Given the description of an element on the screen output the (x, y) to click on. 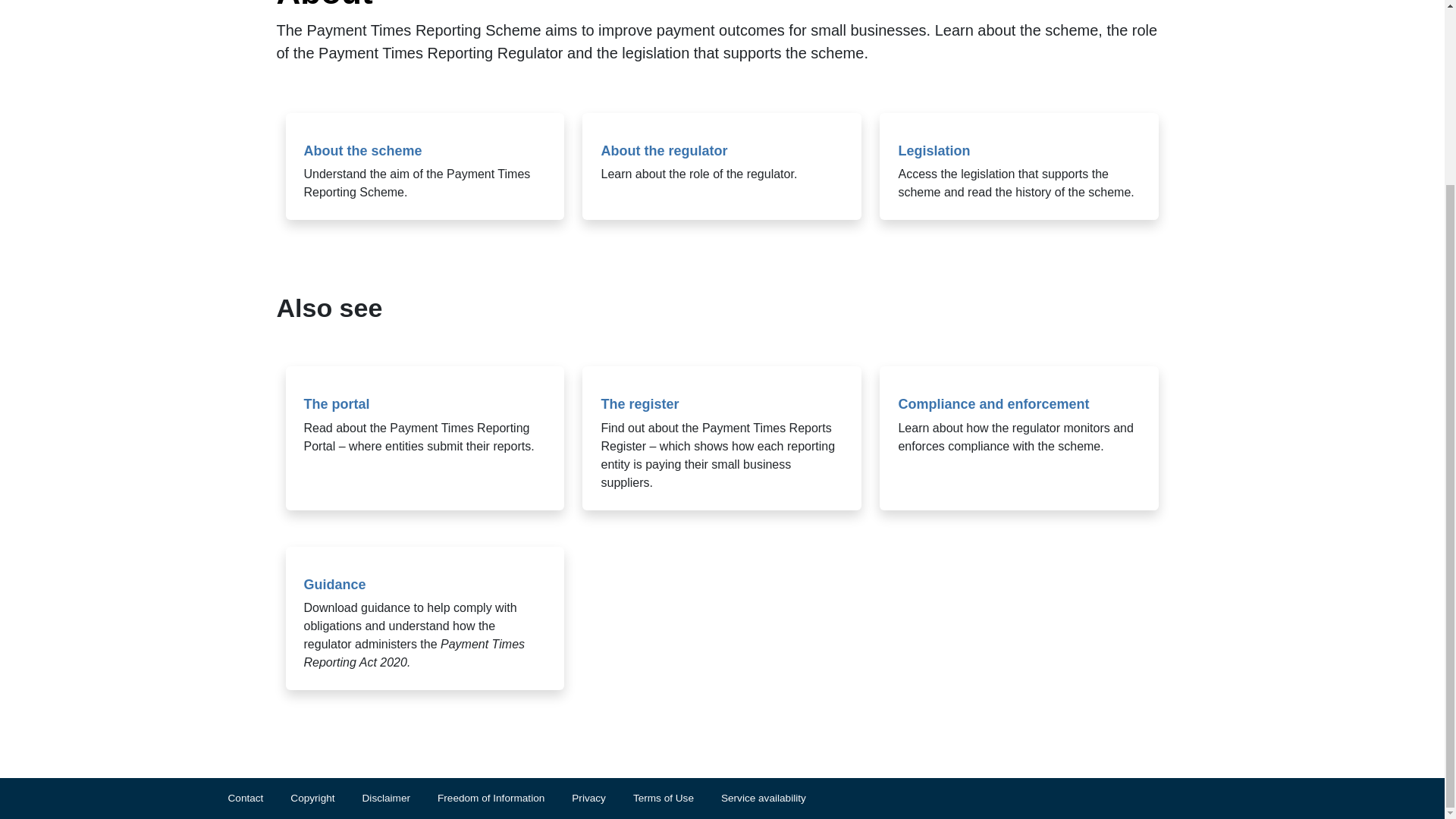
About the regulator (662, 150)
Privacy (602, 797)
Privacy Policy (602, 797)
Contact (258, 797)
The portal (335, 403)
Compliance and enforcement (993, 403)
About the scheme (362, 150)
Legislation (933, 150)
Freedom of Information (505, 797)
Access the Payment Times Reporting Portal (335, 403)
Terms of Use (676, 797)
The register (638, 403)
Disclaimer (400, 797)
Guidance (333, 584)
Copyright (325, 797)
